Given the description of an element on the screen output the (x, y) to click on. 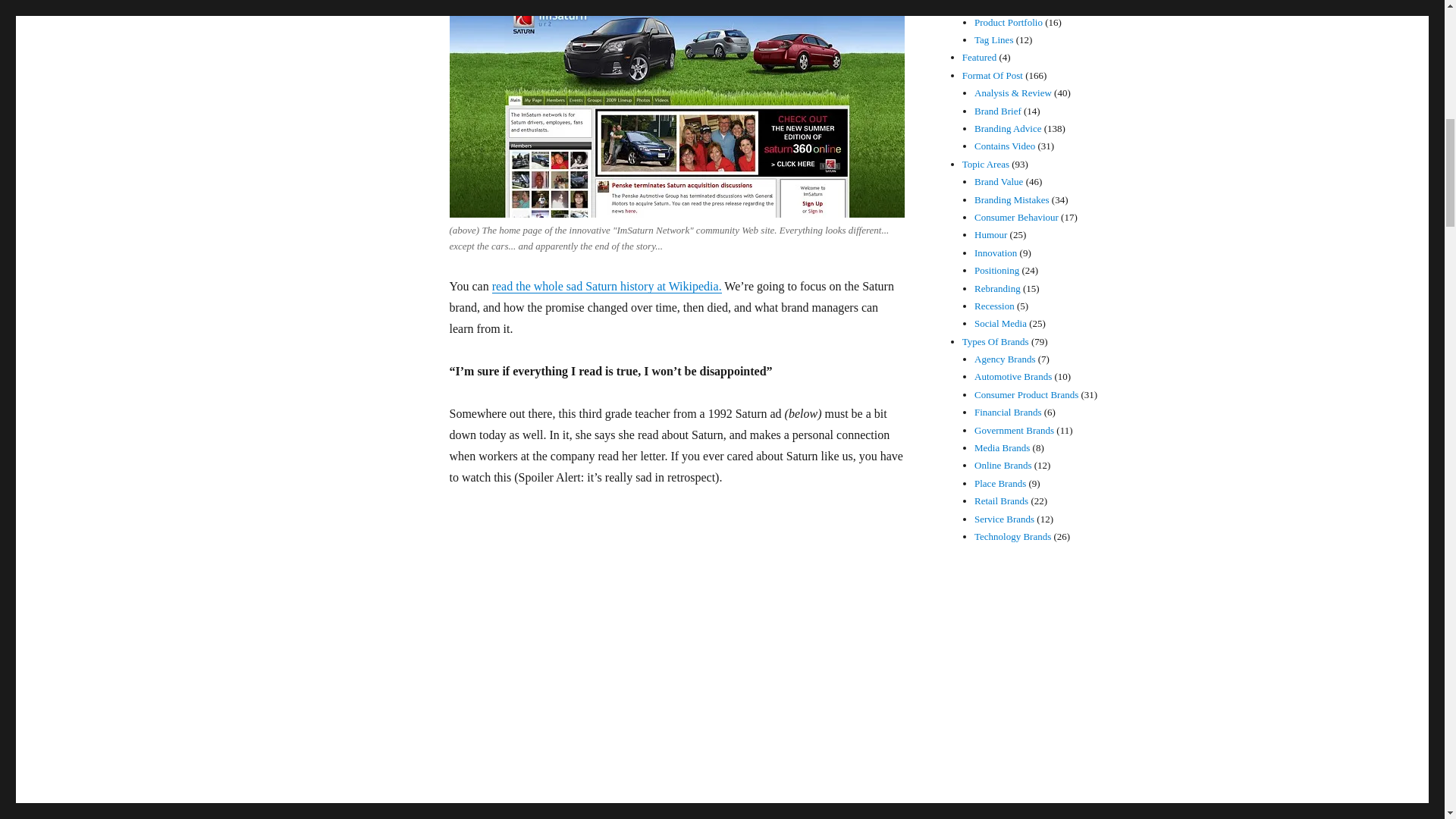
read the whole sad Saturn history at Wikipedia. (607, 286)
Header (294, 4)
